Given the description of an element on the screen output the (x, y) to click on. 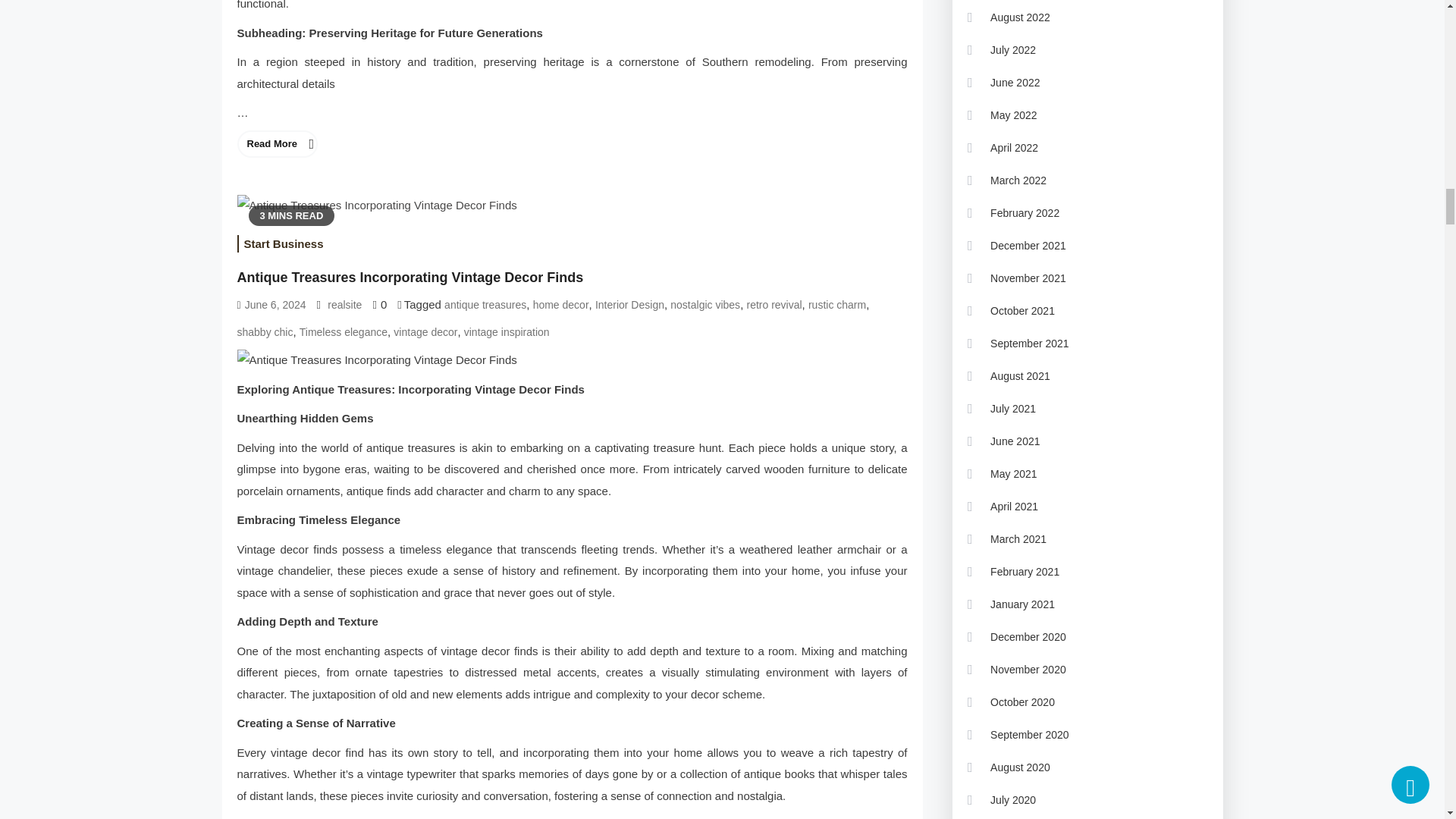
Antique Treasures Incorporating Vintage Decor Finds (375, 204)
Antique Treasures Incorporating Vintage Decor Finds (571, 360)
